Given the description of an element on the screen output the (x, y) to click on. 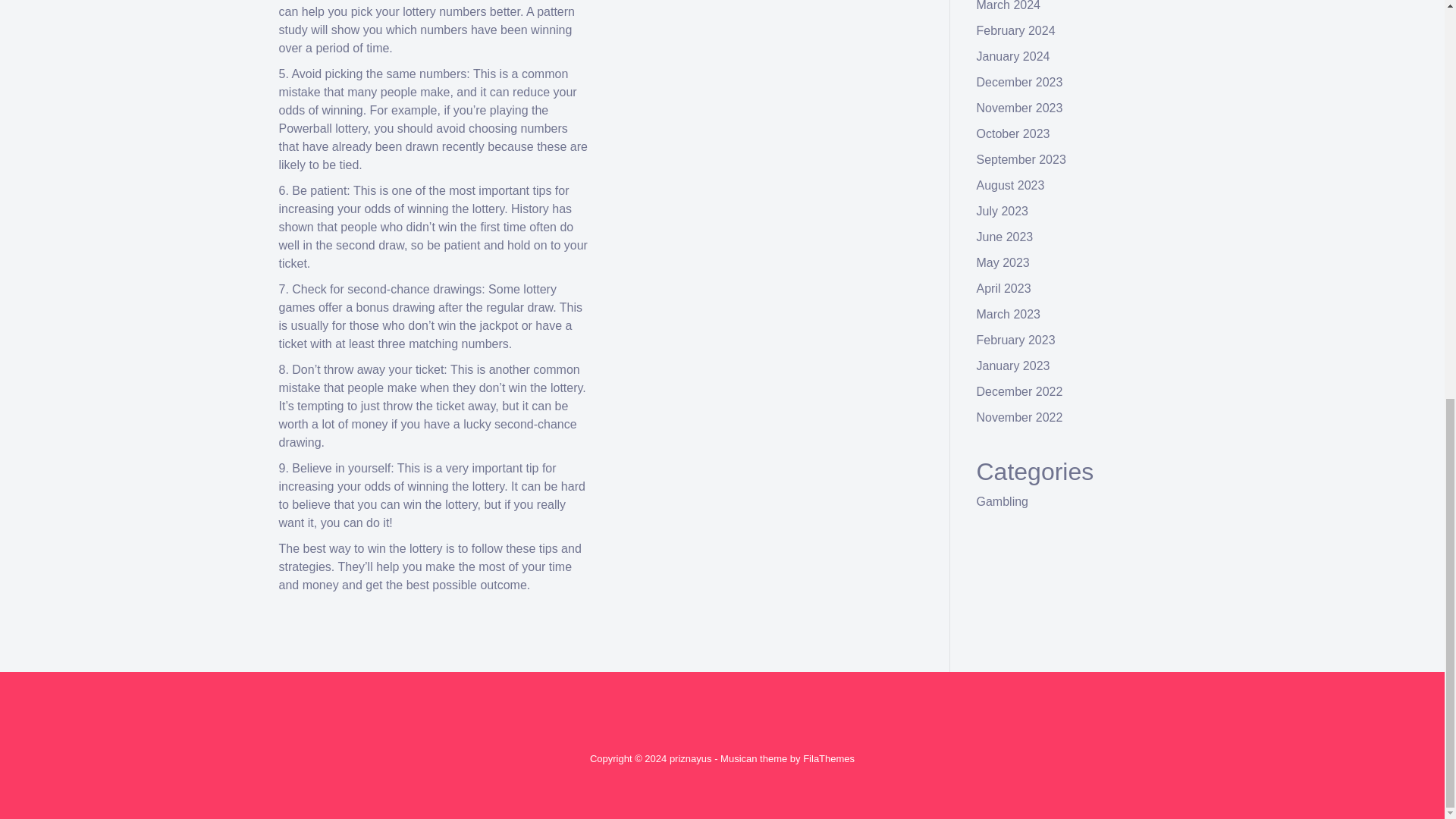
priznayus (690, 758)
